Given the description of an element on the screen output the (x, y) to click on. 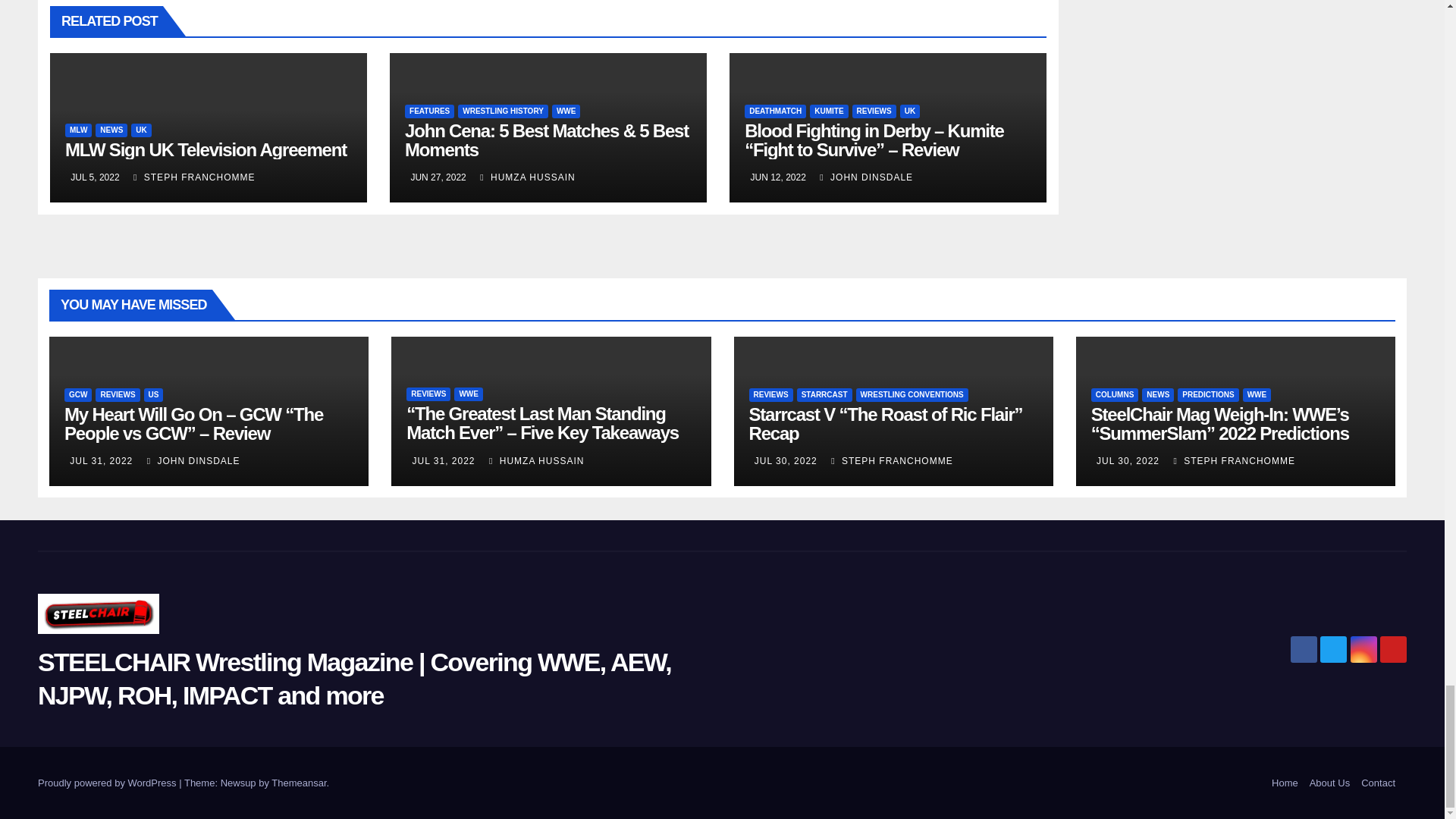
Permalink to: MLW Sign UK Television Agreement (205, 149)
